Given the description of an element on the screen output the (x, y) to click on. 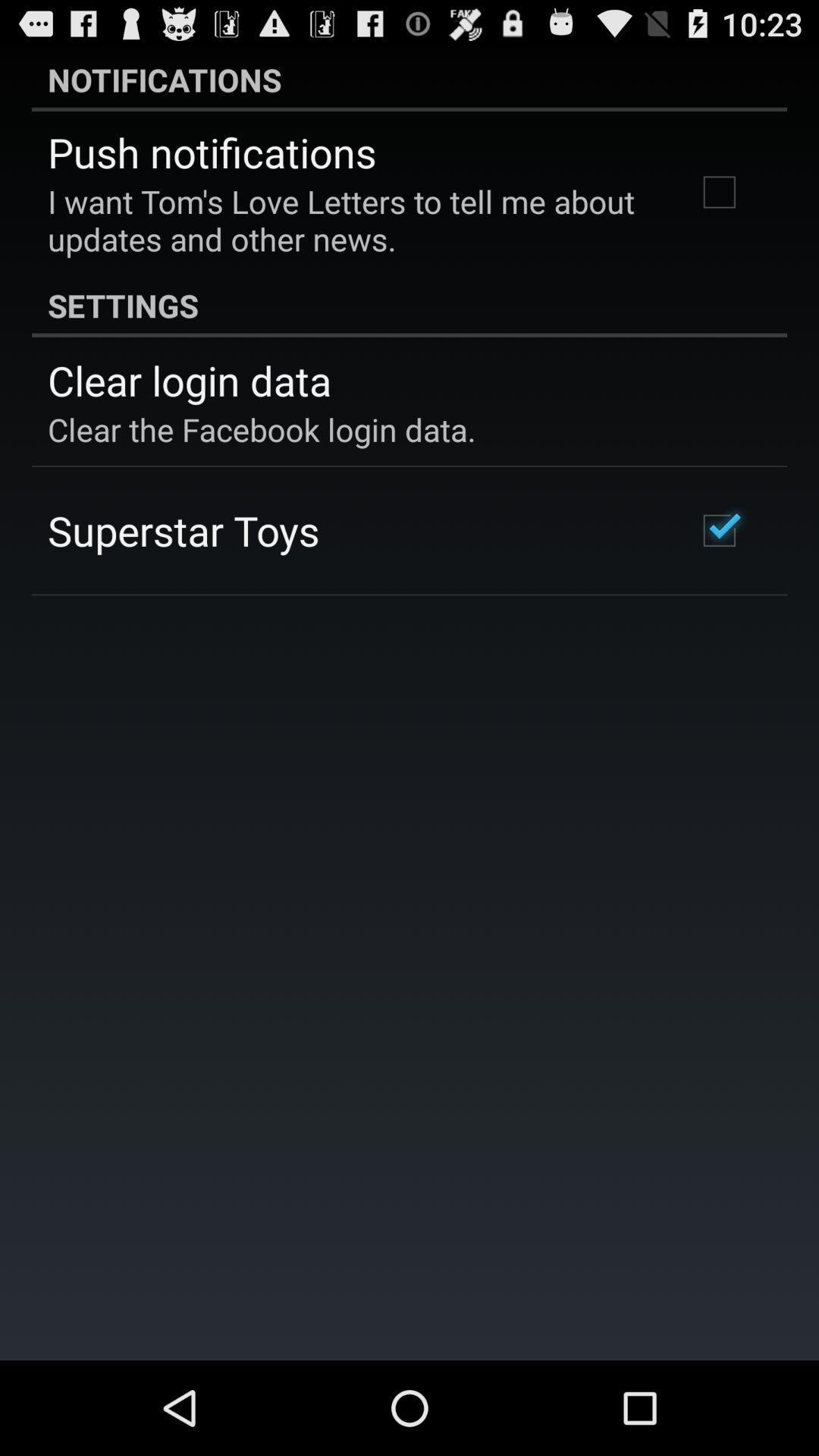
jump to the settings app (409, 305)
